Given the description of an element on the screen output the (x, y) to click on. 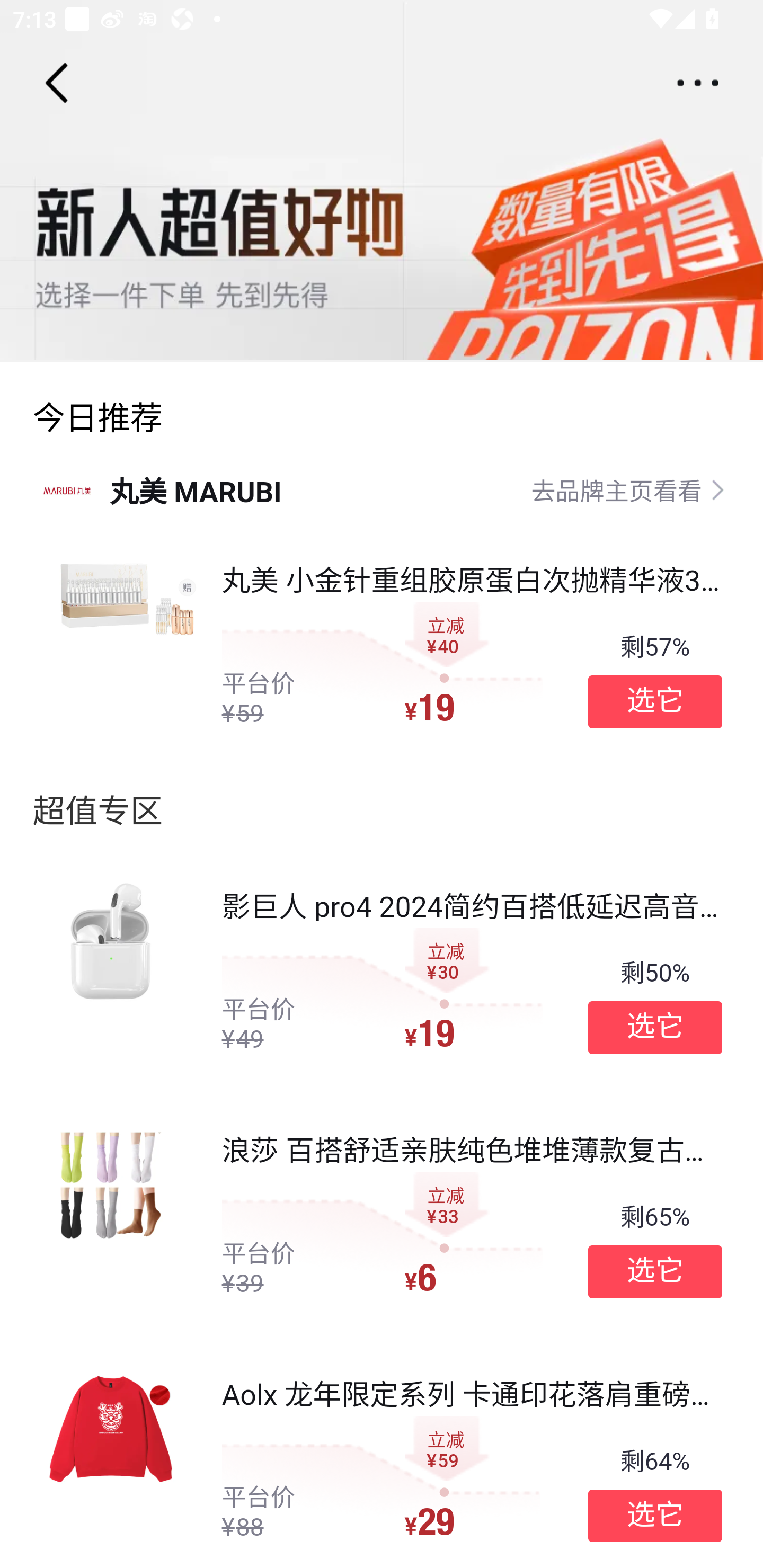
丸美 MARUBI去品牌主页看看 (381, 489)
选它 (654, 701)
选它 (654, 1027)
选它 (654, 1271)
选它 (654, 1515)
